Given the description of an element on the screen output the (x, y) to click on. 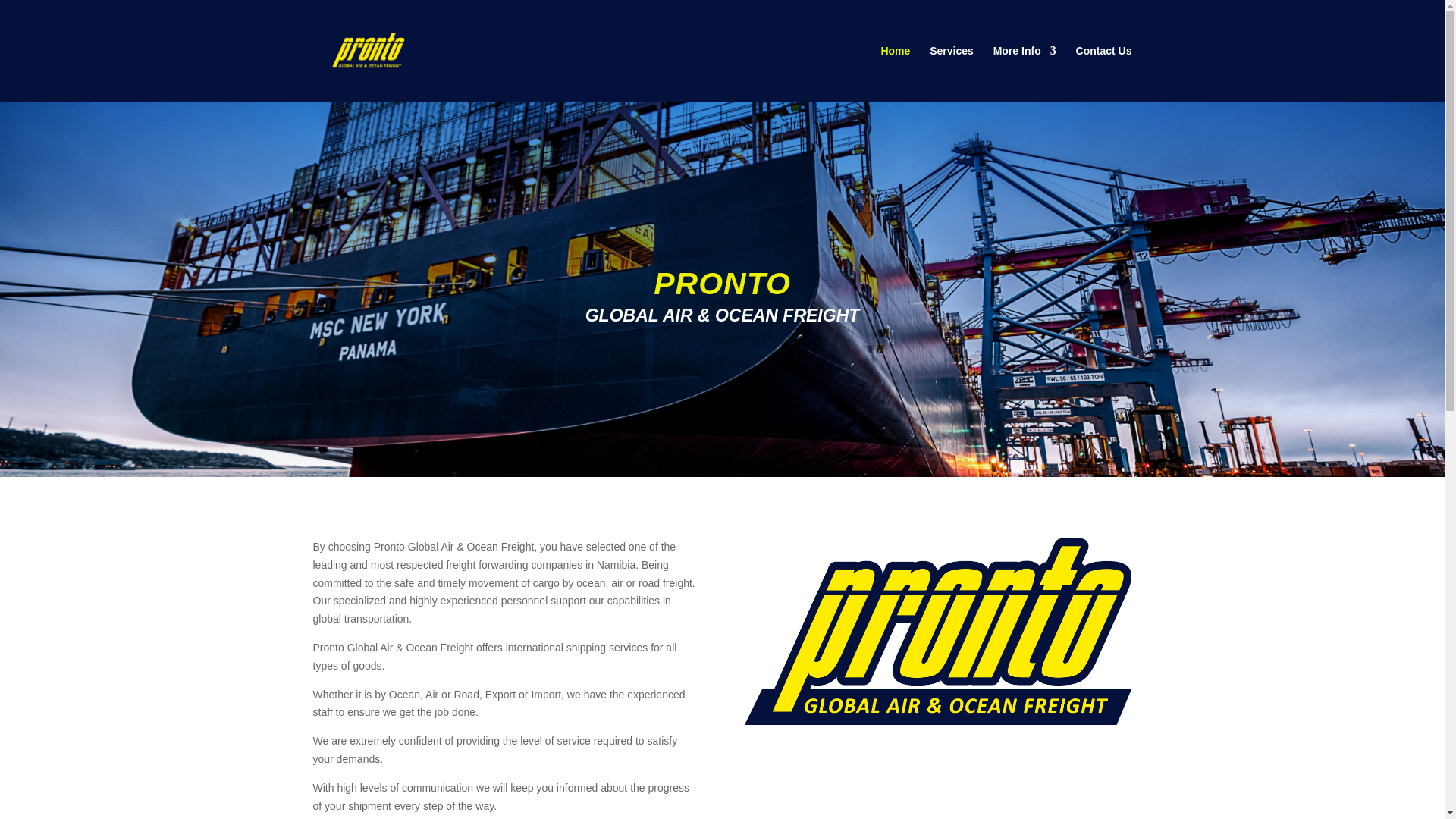
Home (895, 73)
Services (952, 73)
Logo1 (937, 631)
Contact Us (1103, 73)
More Info (1024, 73)
